Given the description of an element on the screen output the (x, y) to click on. 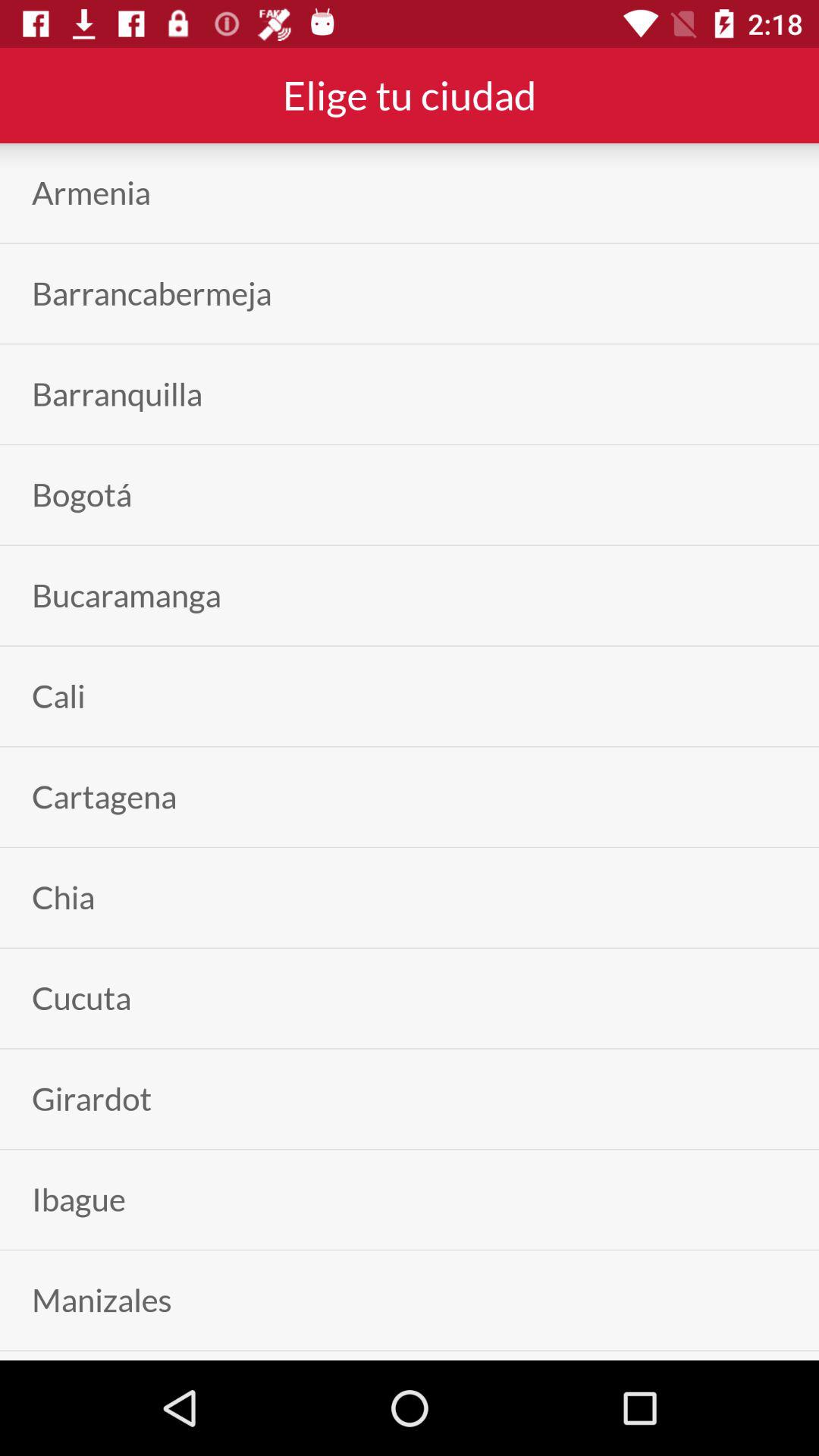
select the item above the cali item (126, 595)
